Given the description of an element on the screen output the (x, y) to click on. 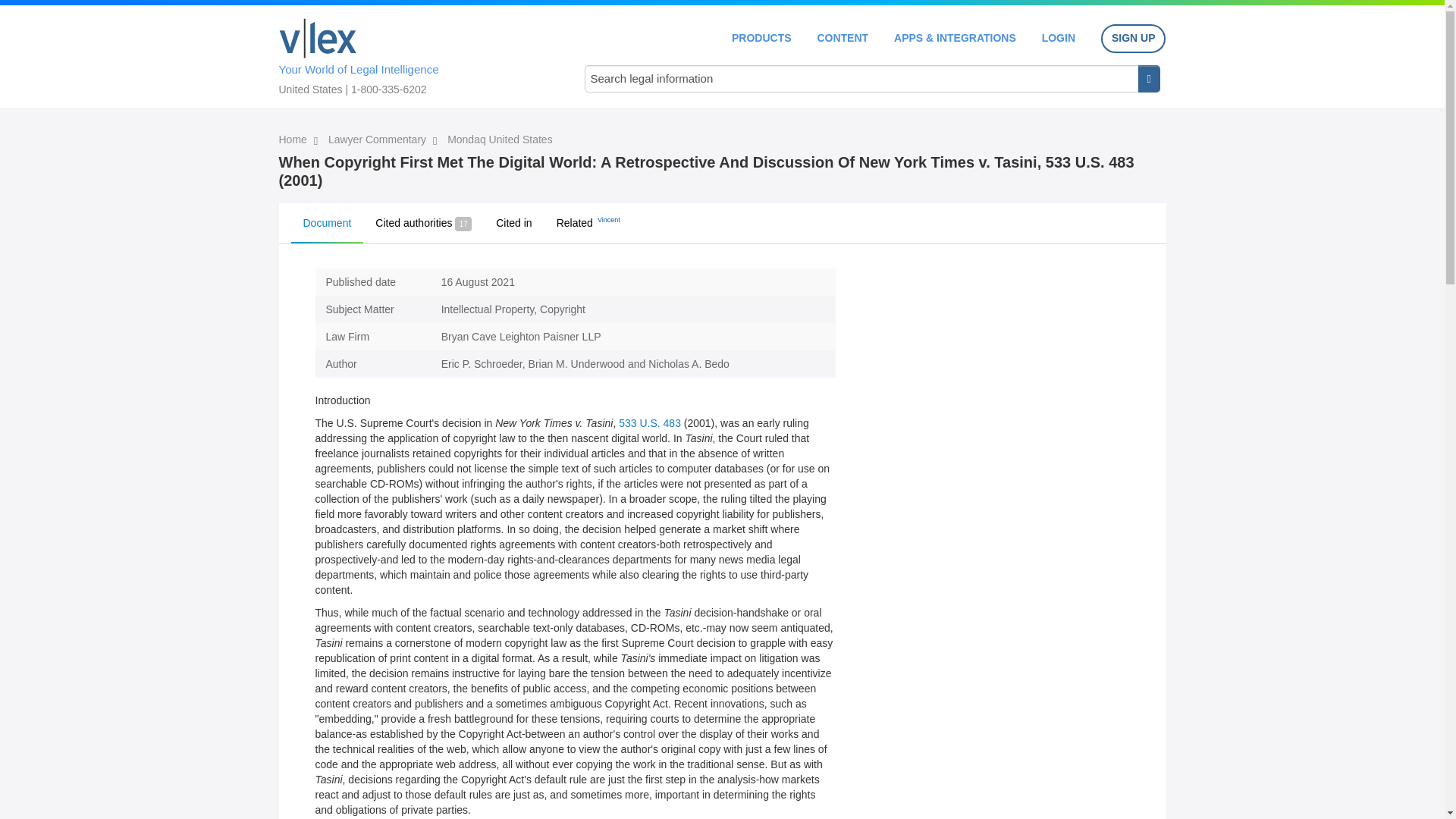
PRODUCTS (762, 37)
Mondaq United States (499, 139)
Home (317, 38)
Home (294, 139)
SIGN UP (1133, 38)
533 U.S. 483 (649, 422)
Your World of Legal Intelligence (416, 53)
LOGIN (1058, 37)
CONTENT (841, 37)
Lawyer Commentary (379, 139)
